Given the description of an element on the screen output the (x, y) to click on. 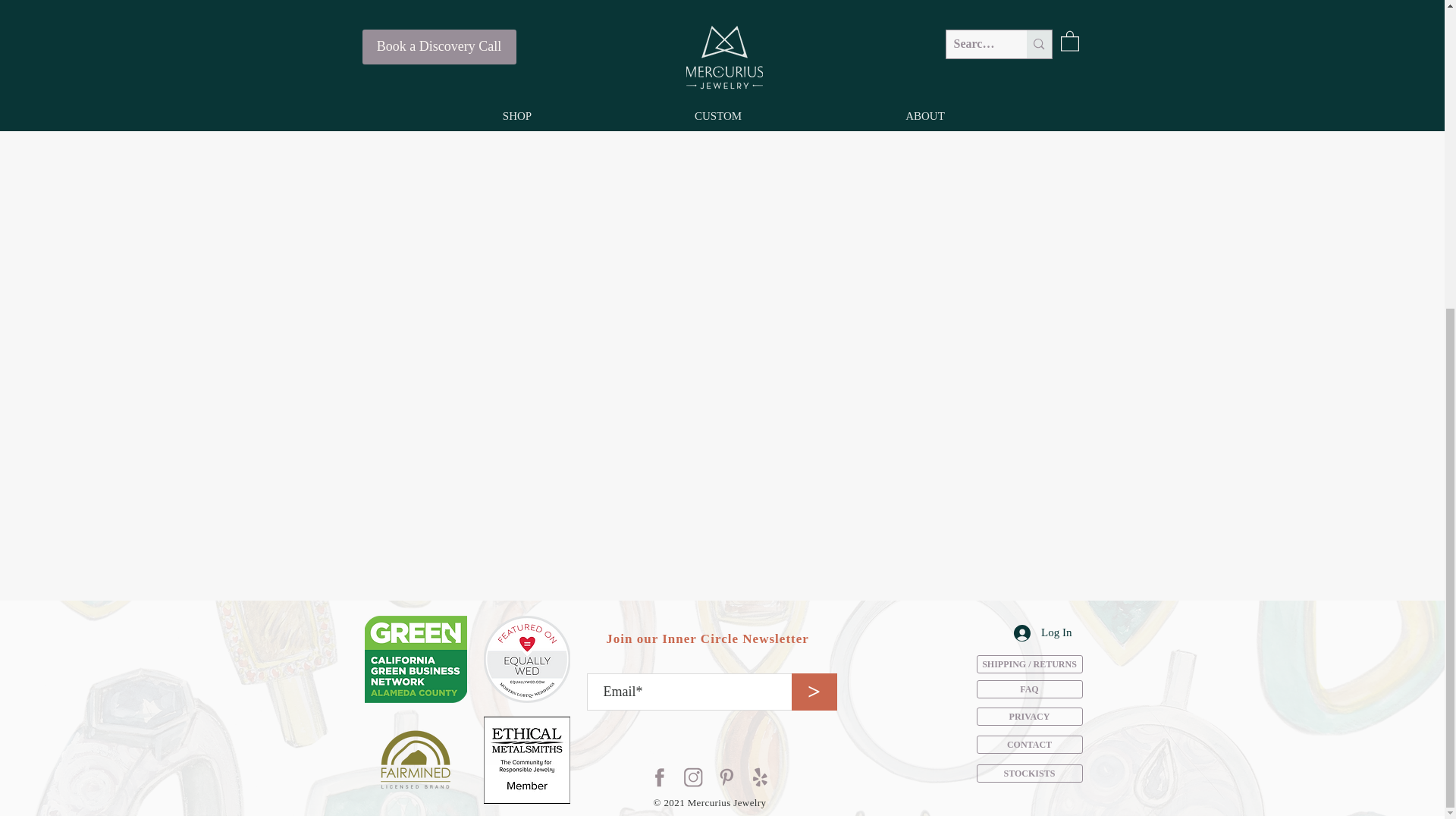
Shop All Jewelry (722, 72)
CONTACT (1029, 744)
STOCKISTS (1029, 773)
Log In (1042, 632)
FAQ (1029, 689)
PRIVACY (1029, 716)
